Given the description of an element on the screen output the (x, y) to click on. 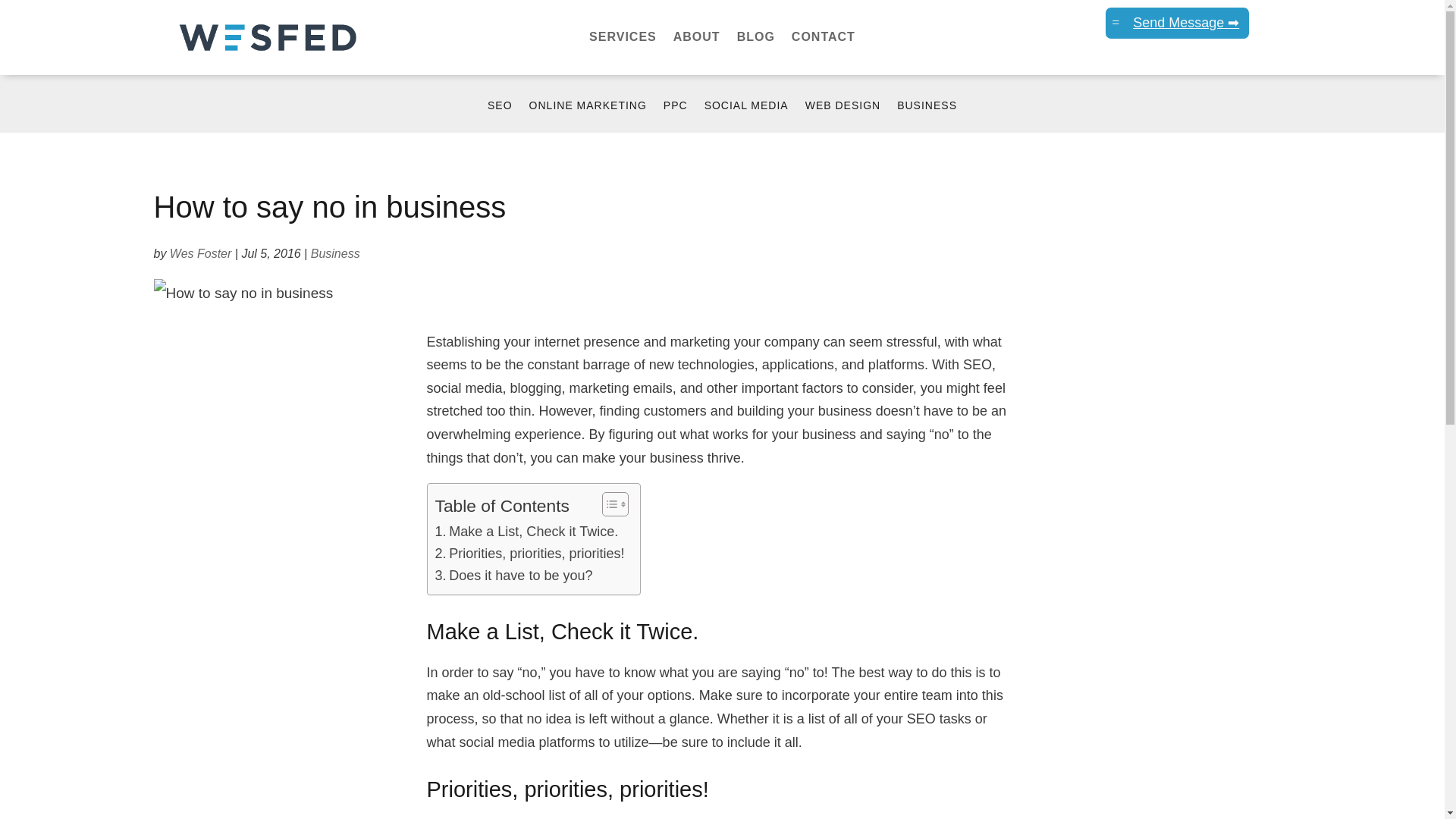
WEB DESIGN (842, 115)
BLOG (755, 39)
SERVICES (622, 39)
BUSINESS (926, 115)
Does it have to be you? (513, 576)
ABOUT (696, 39)
ONLINE MARKETING (587, 115)
SOCIAL MEDIA (746, 115)
Make a List, Check it Twice. (526, 531)
Does it have to be you? (513, 576)
Make a List, Check it Twice. (526, 531)
Business (335, 253)
CONTACT (824, 39)
Priorities, priorities, priorities! (529, 553)
Priorities, priorities, priorities! (529, 553)
